Given the description of an element on the screen output the (x, y) to click on. 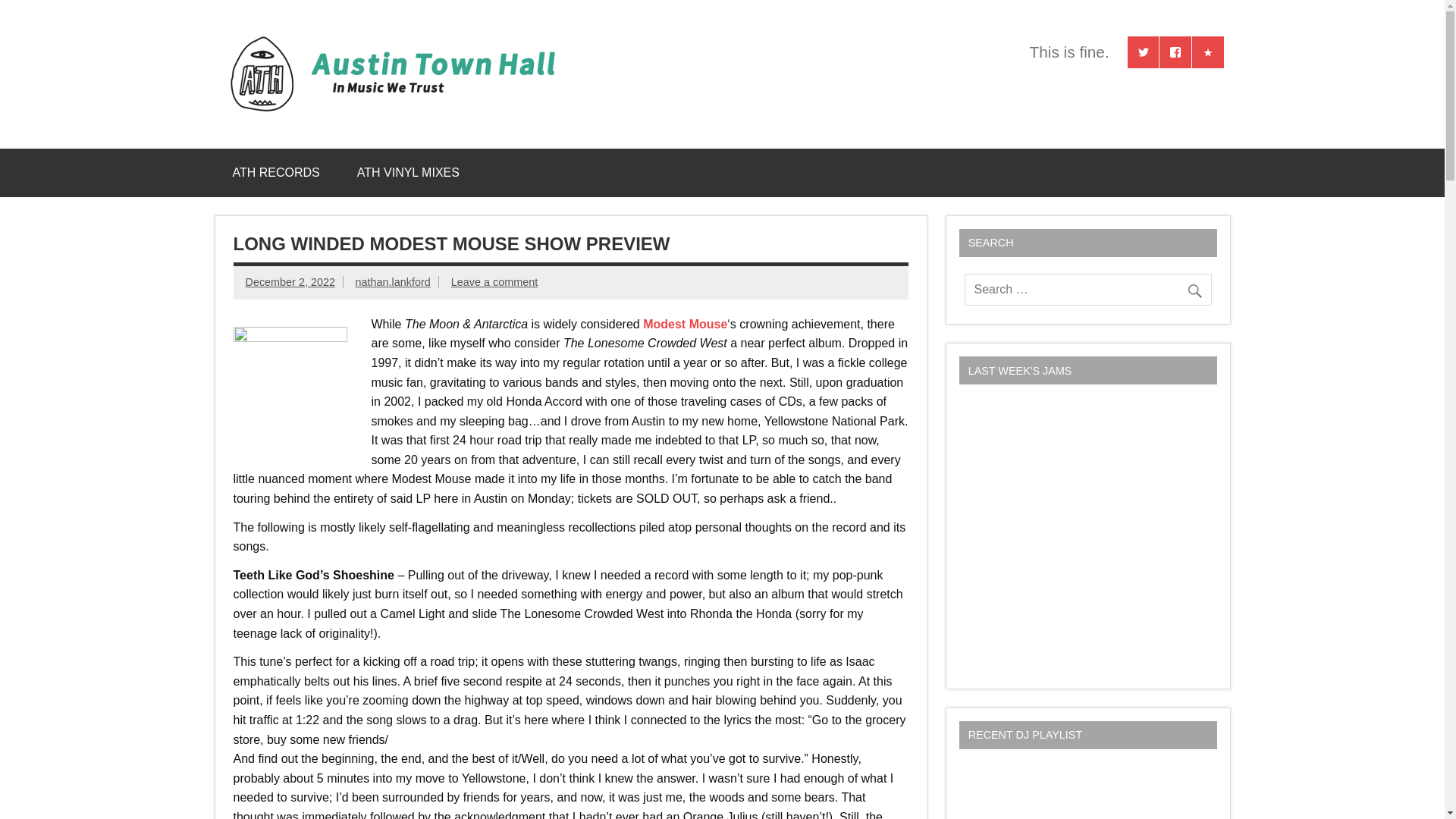
December 2, 2022 (290, 282)
Twitter (1142, 51)
Leave a comment (494, 282)
8:14 am (290, 282)
ATH RECORDS (275, 172)
Facebook (1174, 51)
View all posts by nathan.lankford (392, 282)
Modest Mouse (684, 323)
Spotify Embed: ATH DJ - Oddwood Emo 5.30.24 (1087, 792)
ATH Records (1208, 51)
ATH VINYL MIXES (408, 172)
nathan.lankford (392, 282)
Austin Town Hall (738, 51)
